Given the description of an element on the screen output the (x, y) to click on. 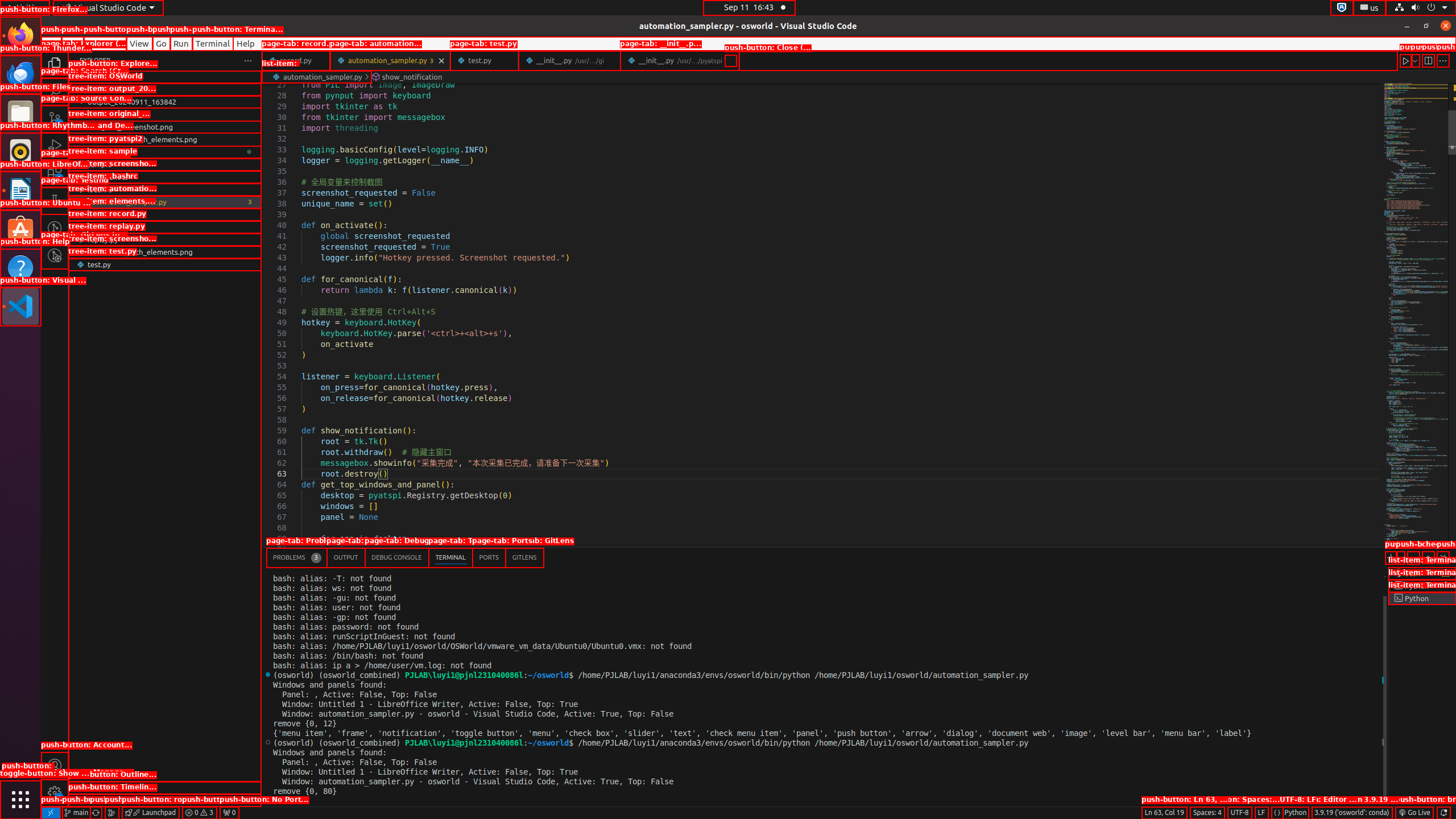
Explorer Section: osworld Element type: push-button (164, 76)
Editor Language Status: Auto Import Completions: false, next: Type Checking: off Element type: push-button (1277, 812)
Terminal (Ctrl+`) Element type: page-tab (450, 557)
output_20240911_163842 Element type: tree-item (164, 101)
File Element type: push-button (50, 43)
